Given the description of an element on the screen output the (x, y) to click on. 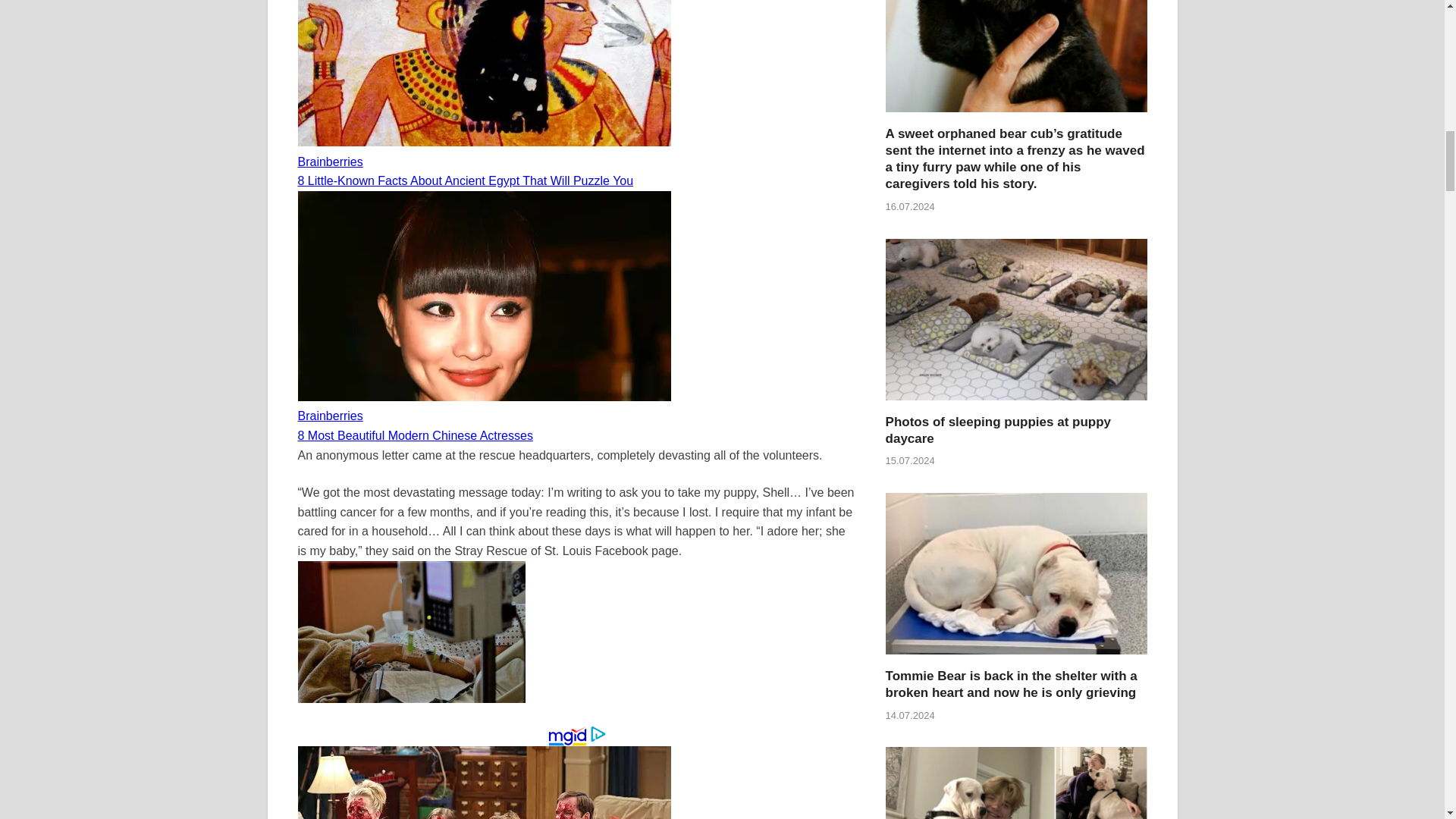
Photos of sleeping puppies at puppy daycare (998, 429)
Photos of sleeping puppies at puppy daycare (1016, 404)
